Given the description of an element on the screen output the (x, y) to click on. 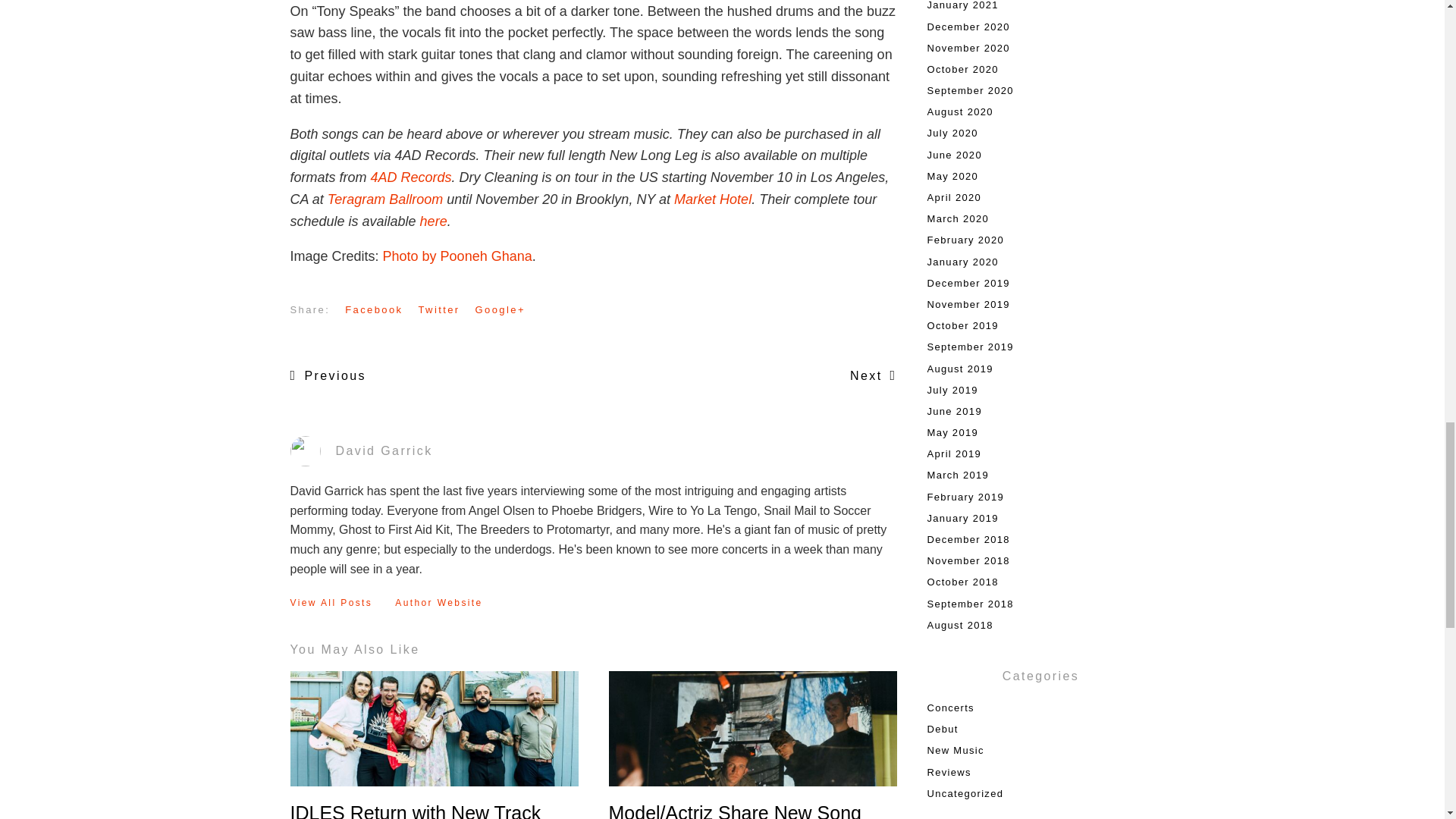
Teragram Ballroom (384, 199)
4AD Records (411, 177)
Photo by Pooneh Ghana (457, 255)
here (433, 221)
Market Hotel (712, 199)
